Given the description of an element on the screen output the (x, y) to click on. 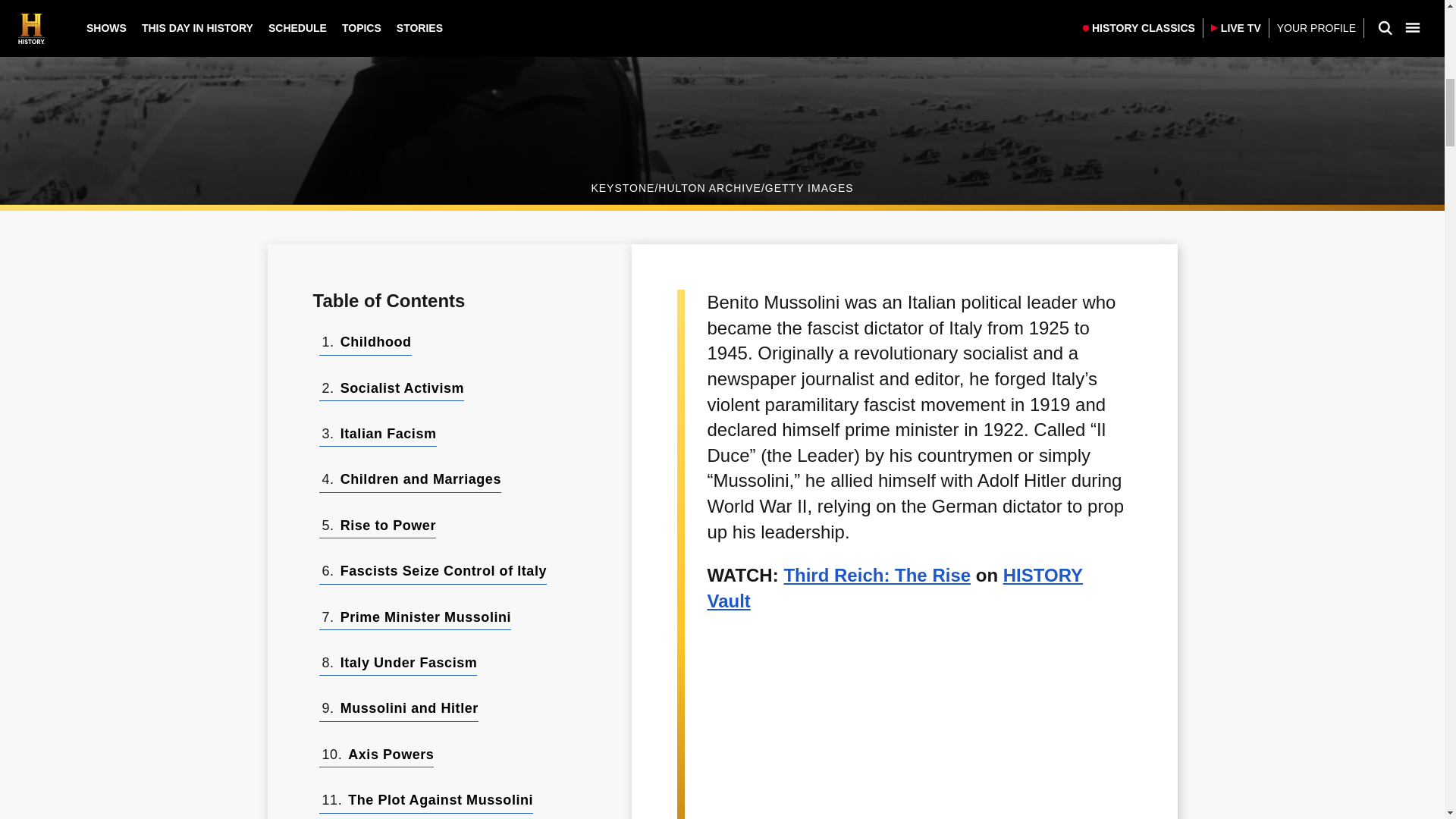
Childhood (376, 342)
Socialist Activism (402, 388)
